Given the description of an element on the screen output the (x, y) to click on. 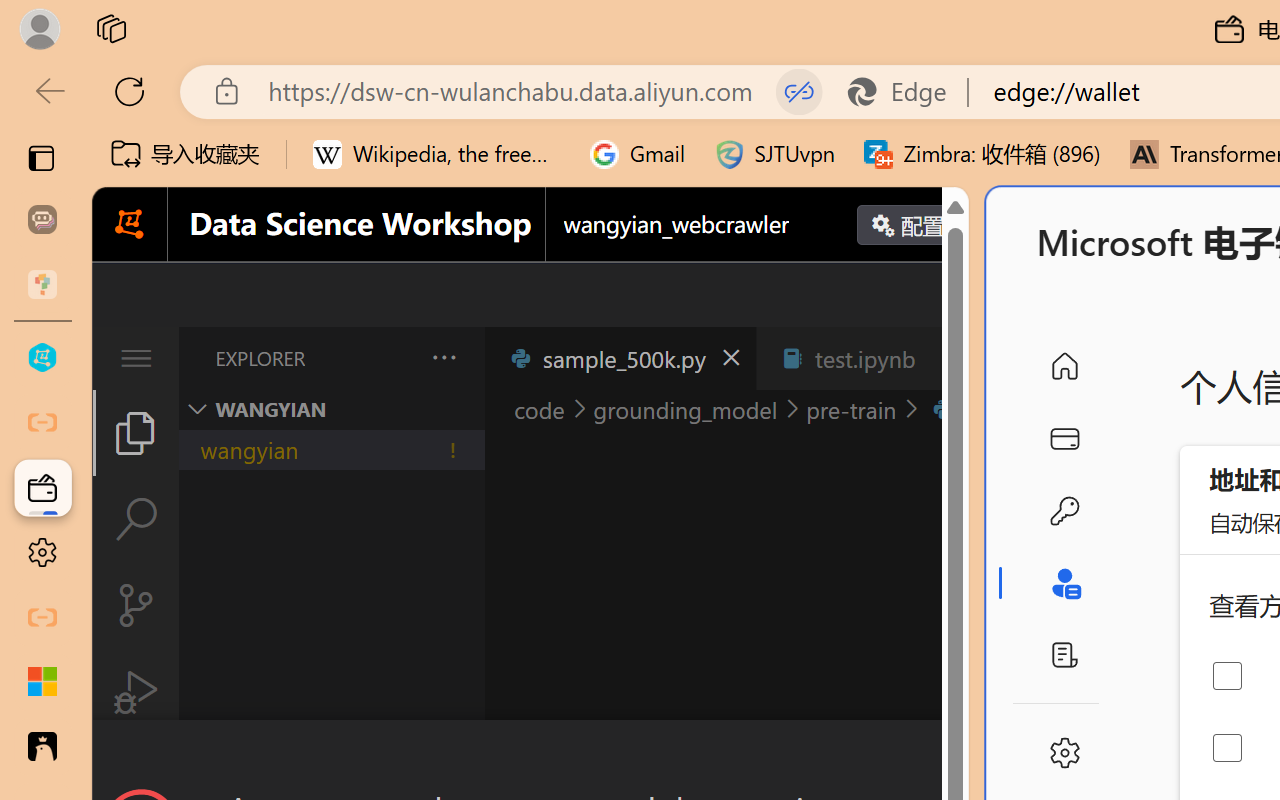
Gmail (637, 154)
test.ipynb (864, 358)
Edge (905, 91)
Application Menu (135, 358)
Class: actions-container (529, 756)
Close Dialog (959, 756)
